Given the description of an element on the screen output the (x, y) to click on. 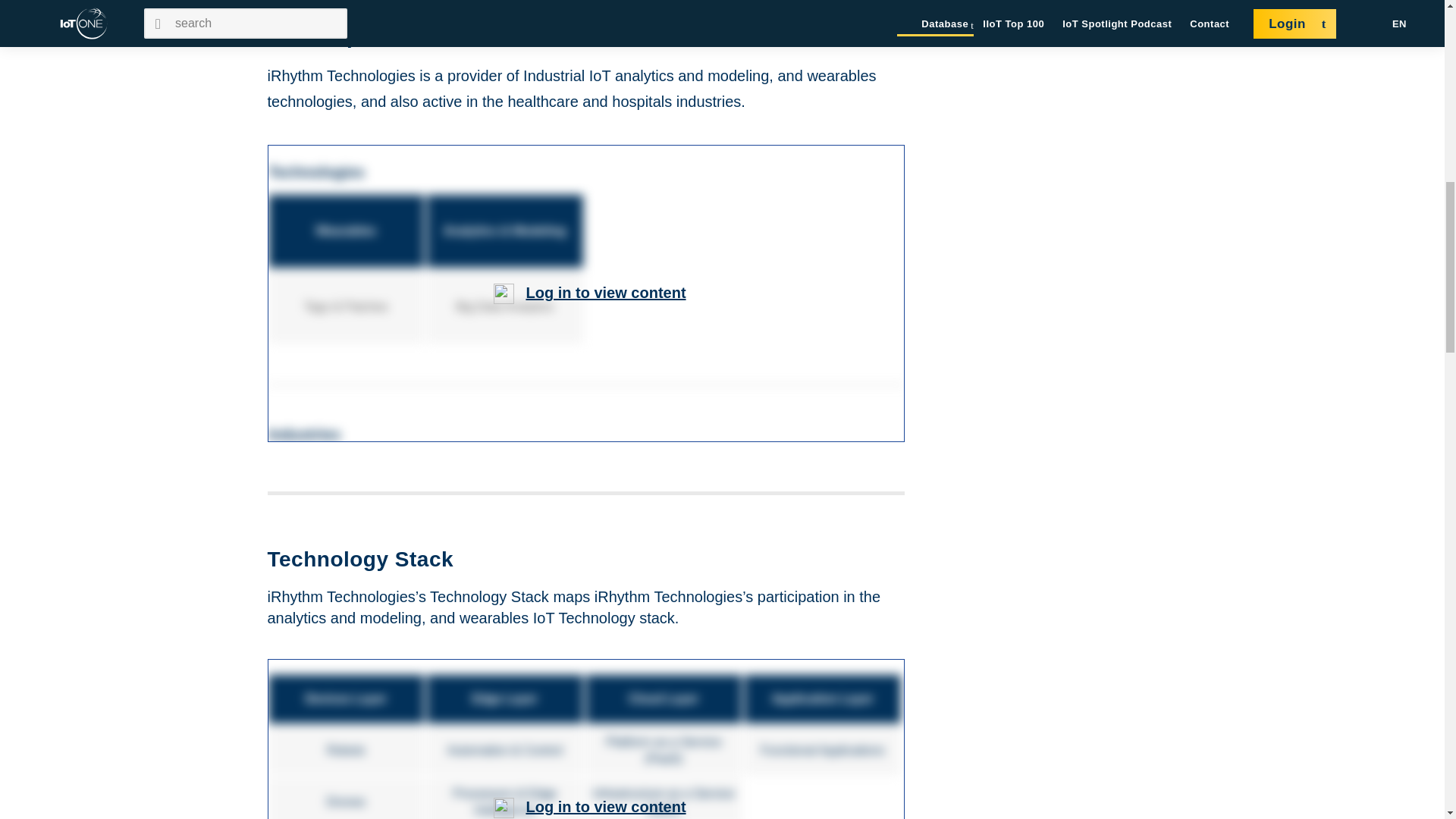
Log in to view content (605, 292)
Big Data Analytics (506, 307)
Wearables (347, 230)
Log in to view content (605, 806)
